Given the description of an element on the screen output the (x, y) to click on. 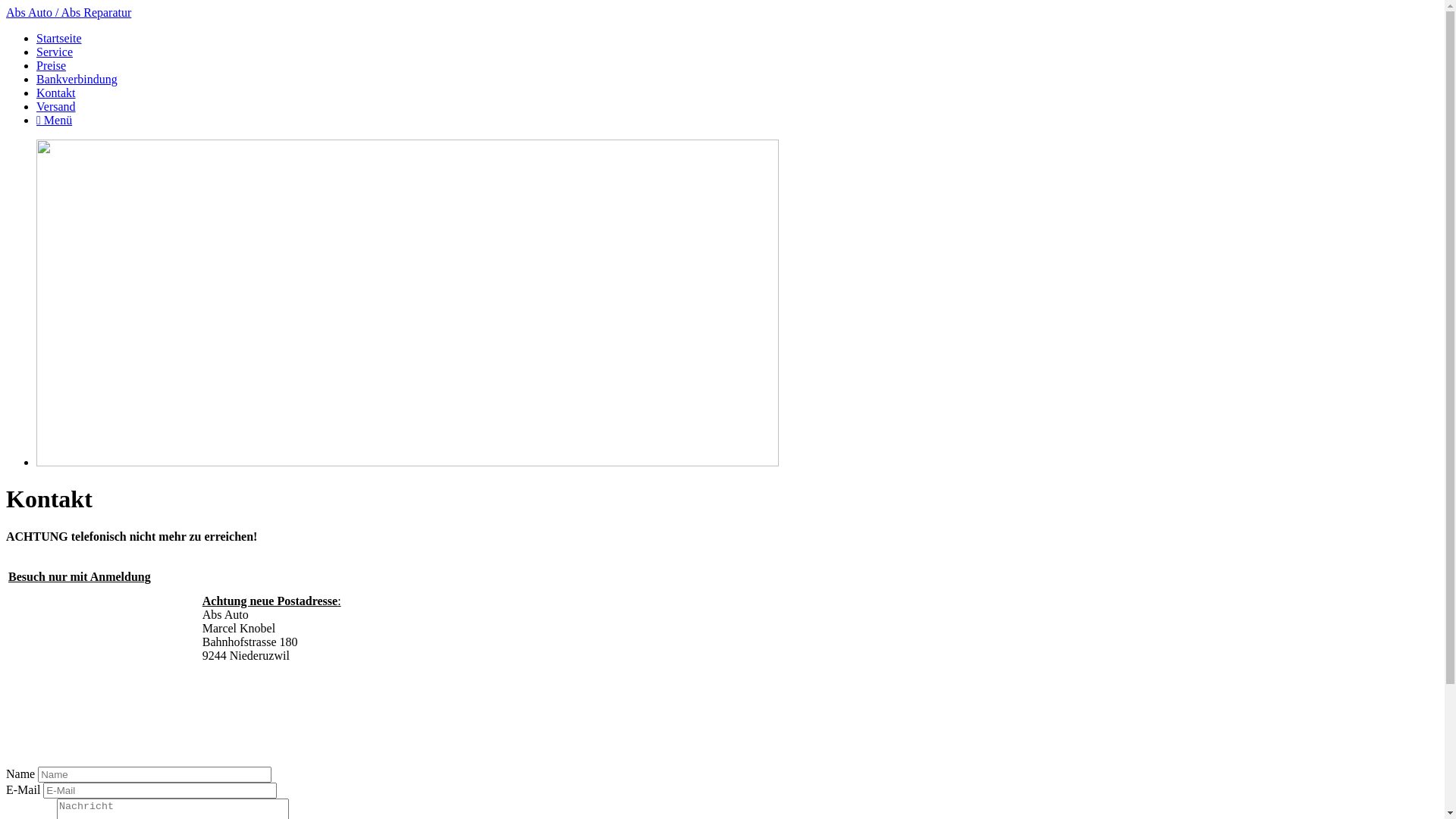
Startseite Element type: text (58, 37)
Bankverbindung Element type: text (76, 78)
Versand Element type: text (55, 106)
Preise Element type: text (50, 65)
Service Element type: text (54, 51)
Abs Auto / Abs Reparatur Element type: text (68, 12)
Kontakt Element type: text (55, 92)
